Given the description of an element on the screen output the (x, y) to click on. 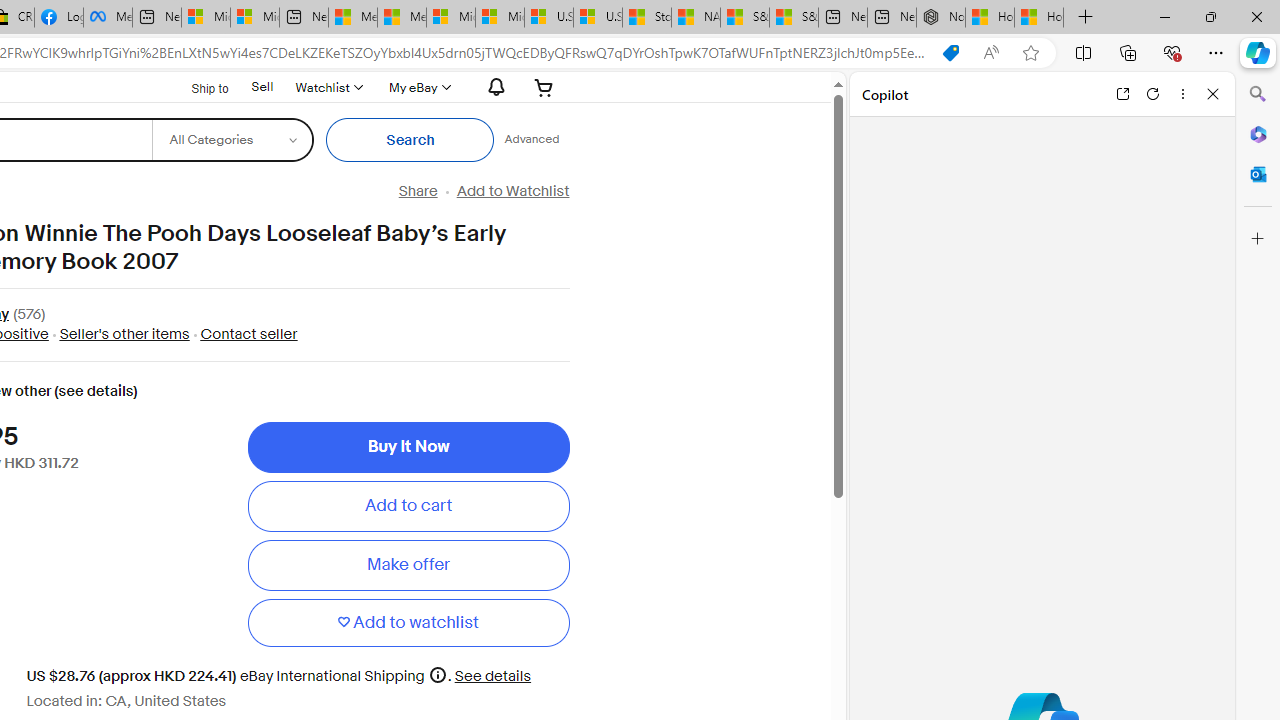
My eBayExpand My eBay (418, 87)
